Given the description of an element on the screen output the (x, y) to click on. 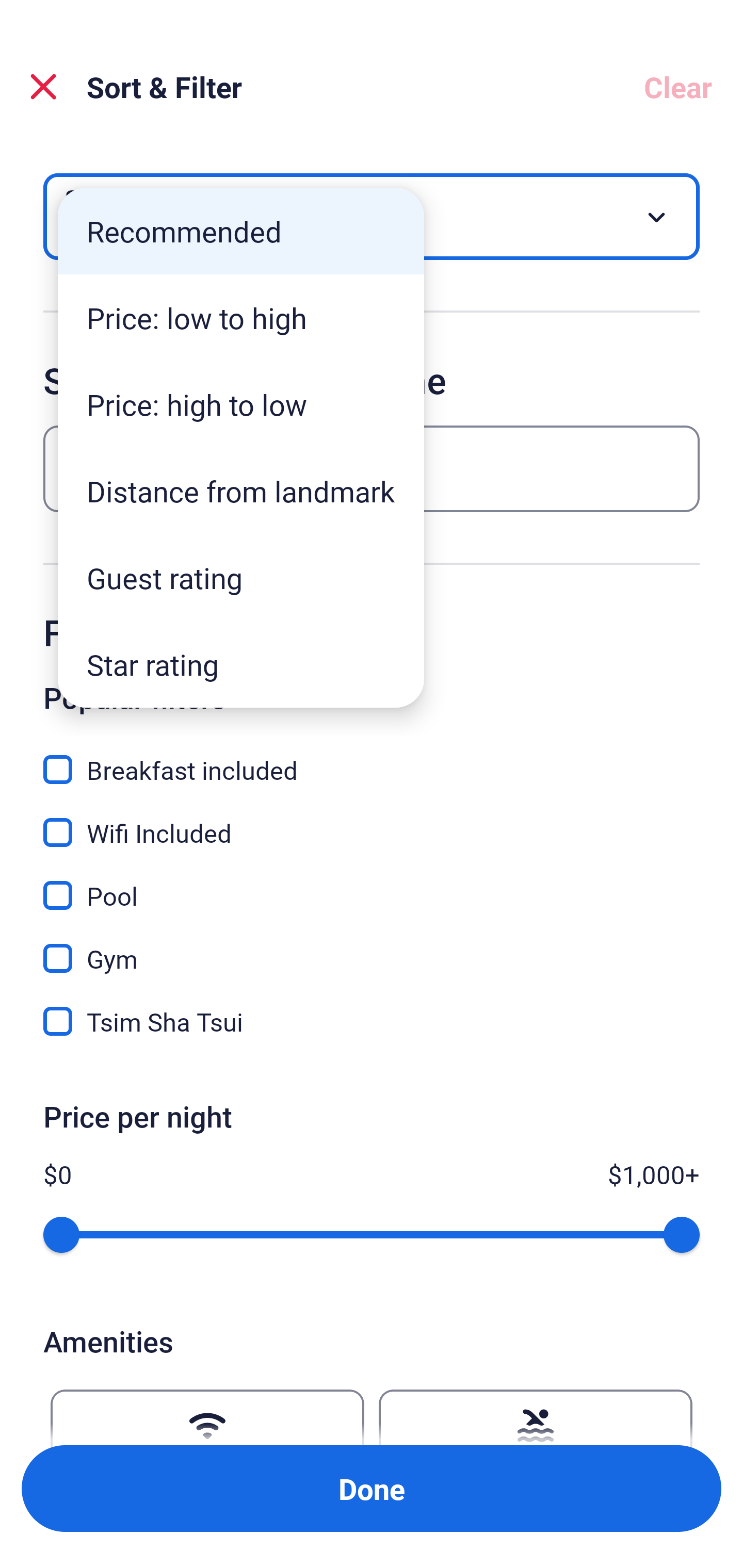
Price: low to high (240, 317)
Price: high to low (240, 404)
Distance from landmark (240, 491)
Guest rating (240, 577)
Star rating (240, 663)
